Given the description of an element on the screen output the (x, y) to click on. 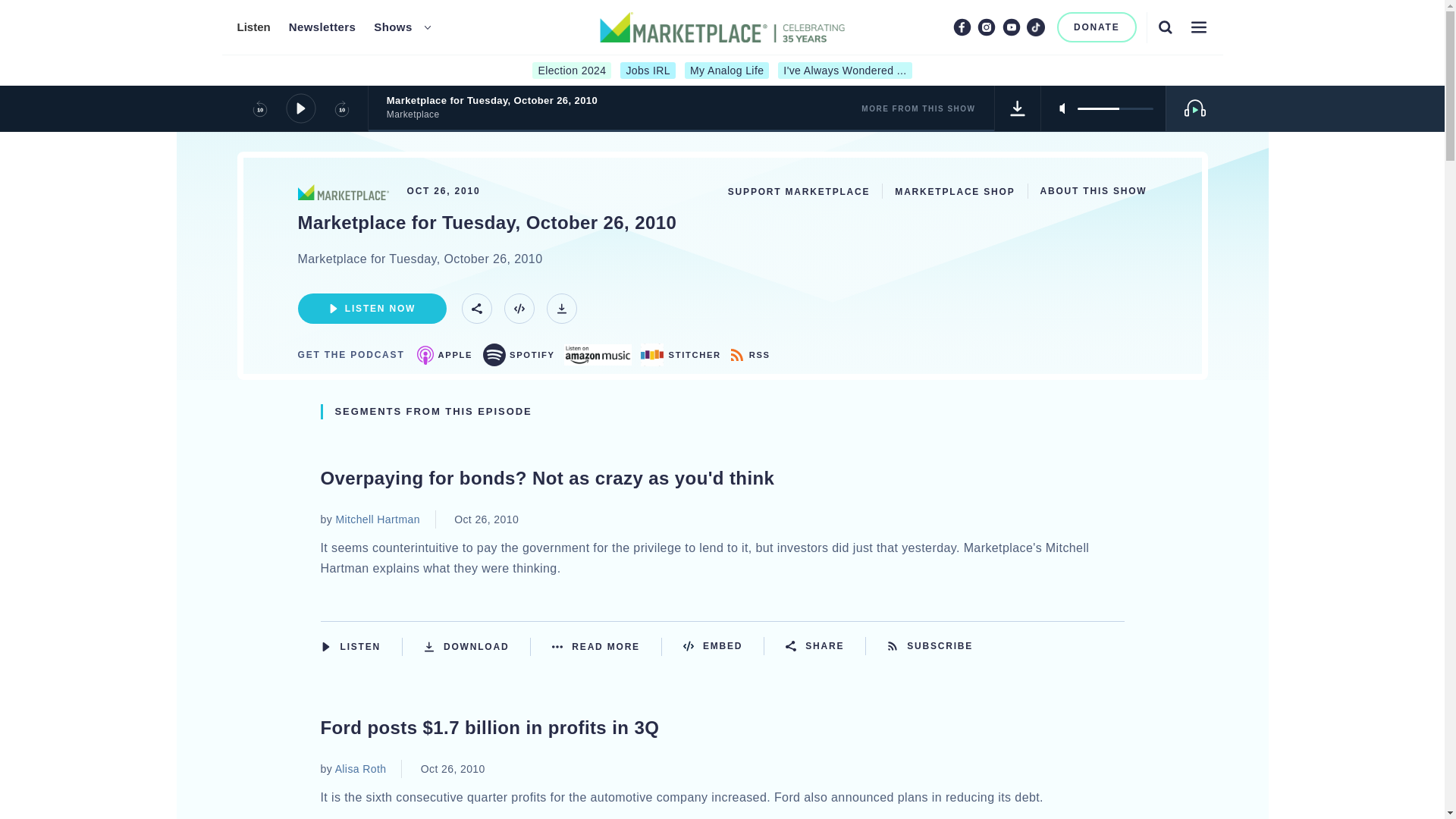
Menu (1198, 27)
5 (1115, 108)
Facebook (962, 27)
Read More (606, 646)
Download Track (1017, 108)
volume (1115, 108)
TikTok (1035, 27)
Youtube (1011, 27)
Shows (393, 26)
Listen Now (371, 308)
LISTEN (325, 646)
Listen Now (360, 646)
Newsletters (322, 27)
Instagram (985, 27)
